Given the description of an element on the screen output the (x, y) to click on. 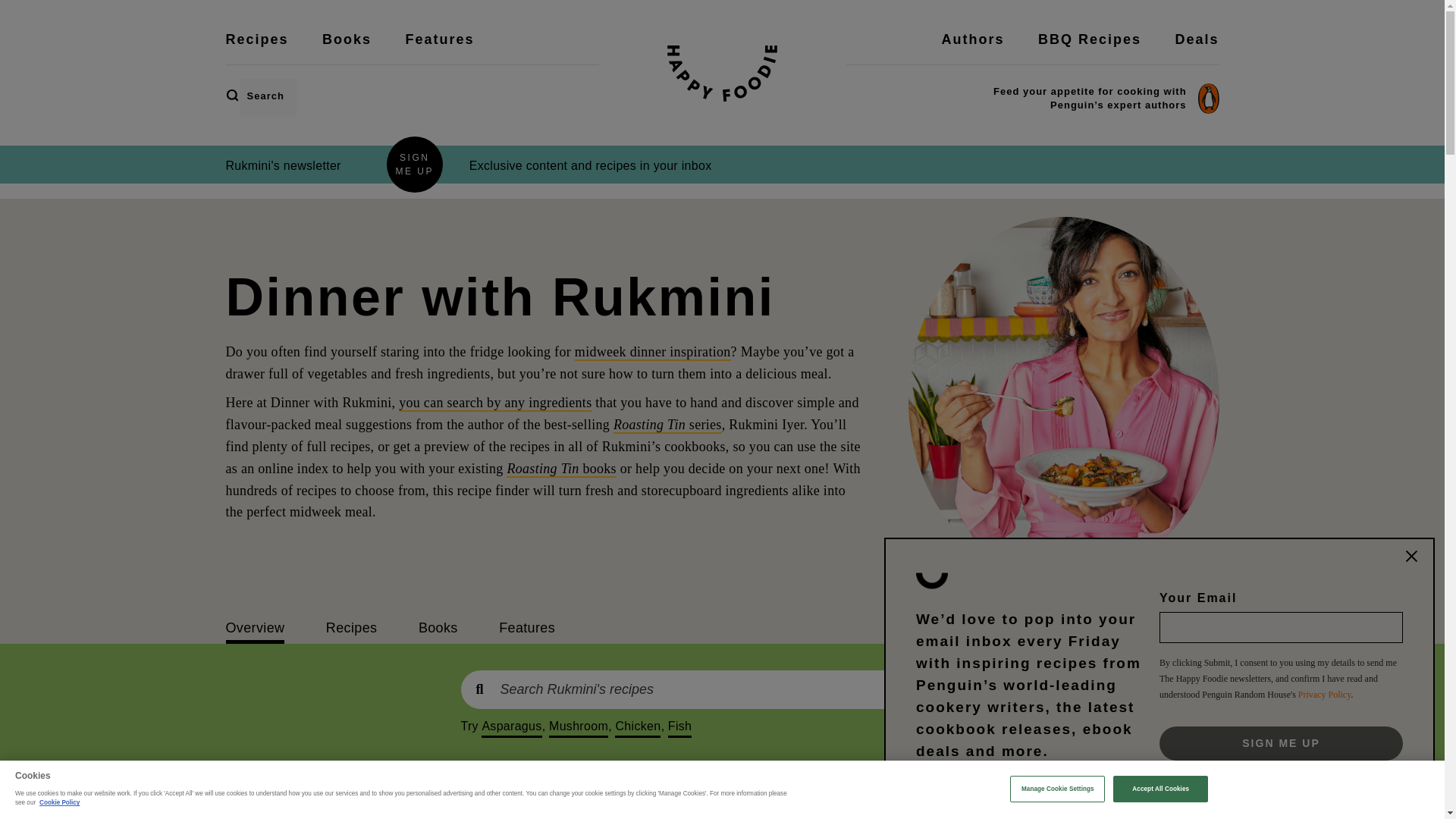
Recipes (256, 48)
Features (439, 48)
Authors (973, 48)
Books (346, 48)
BBQ Recipes (1089, 48)
Deals (1196, 48)
Sign me up (1280, 743)
